Given the description of an element on the screen output the (x, y) to click on. 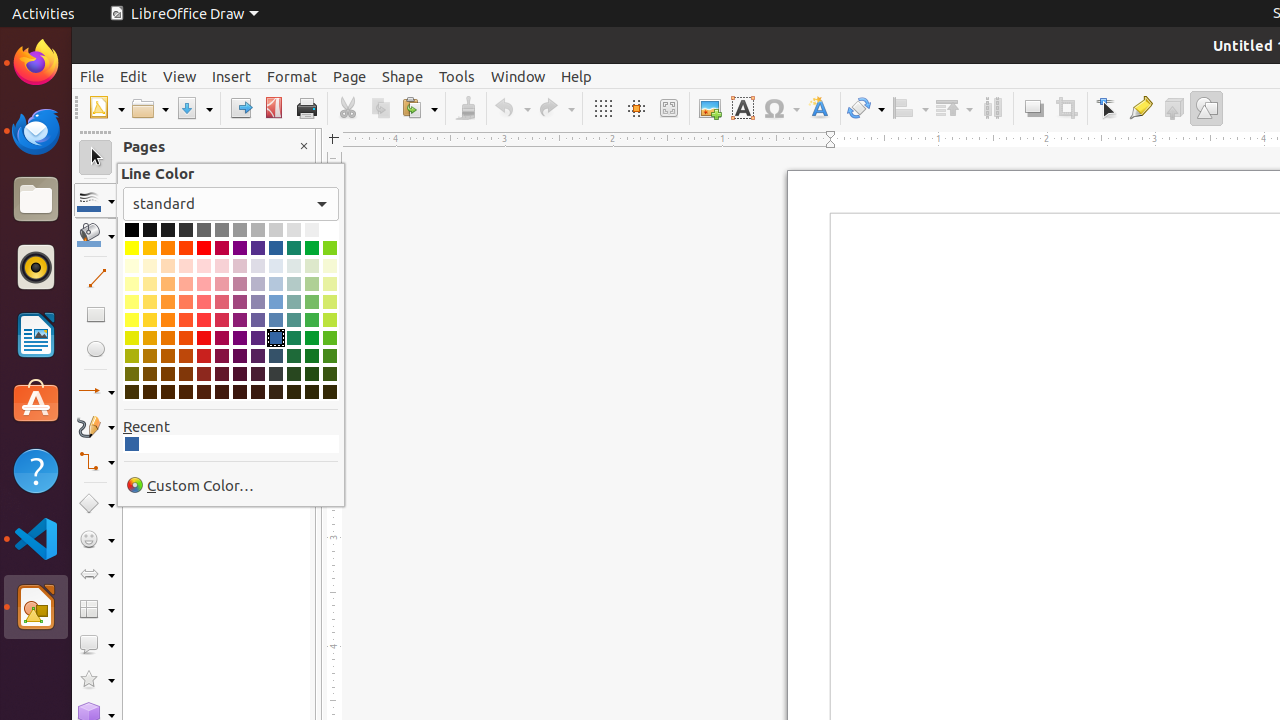
Symbol Element type: push-button (781, 108)
Light Brick 3 Element type: list-item (186, 284)
Light Blue 2 Element type: list-item (276, 302)
Dark Indigo 3 Element type: list-item (258, 374)
Purple Element type: list-item (240, 248)
